Given the description of an element on the screen output the (x, y) to click on. 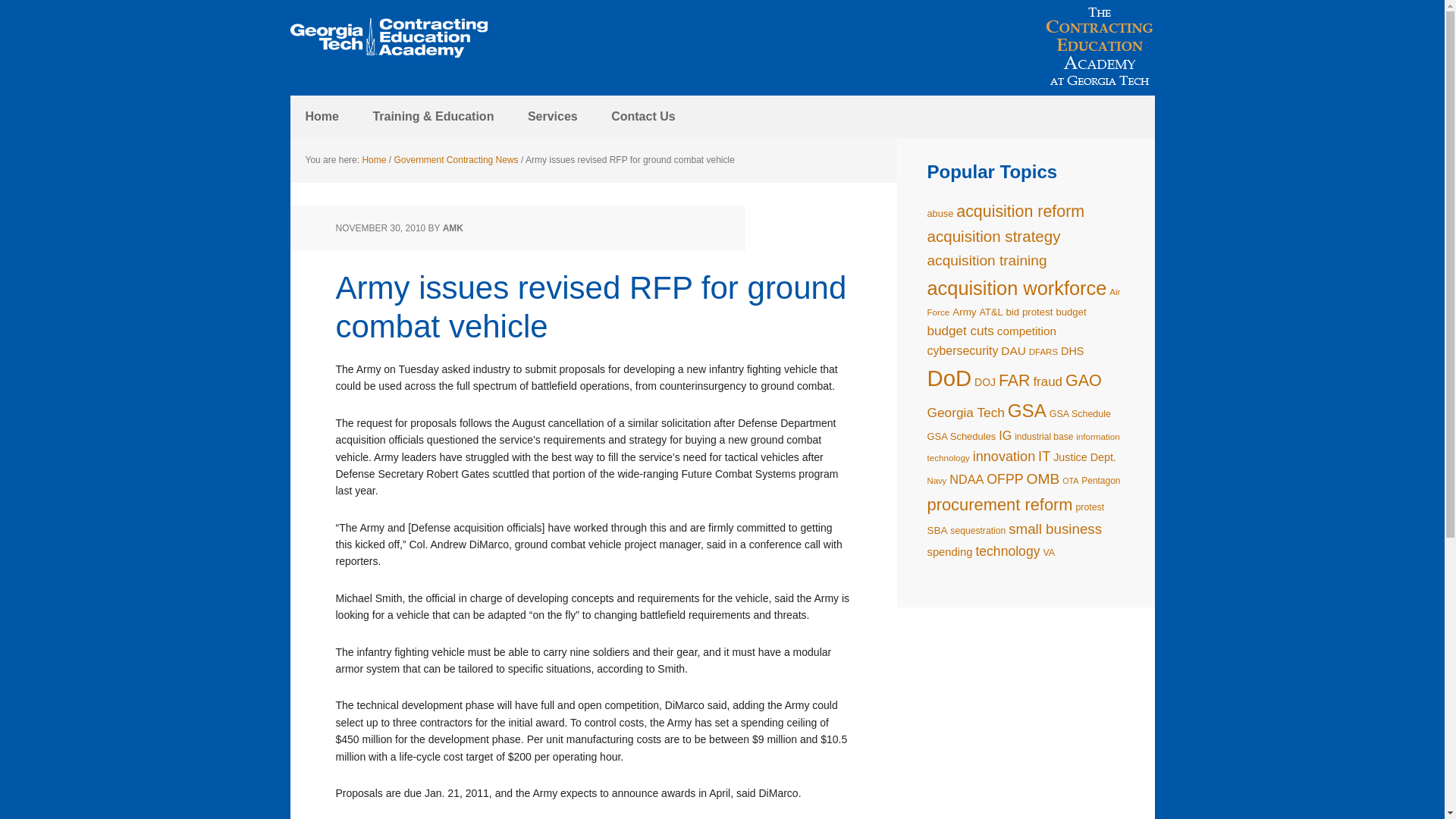
acquisition strategy (992, 235)
abuse (939, 213)
acquisition reform (1020, 211)
DAU (1013, 350)
Home (373, 159)
Home (321, 116)
acquisition training (986, 260)
acquisition workforce (1016, 287)
bid protest (1029, 311)
GSA (1026, 410)
DFARS (1043, 351)
Contact Us (642, 116)
DoD (948, 377)
competition (1027, 330)
DHS (1072, 350)
